Given the description of an element on the screen output the (x, y) to click on. 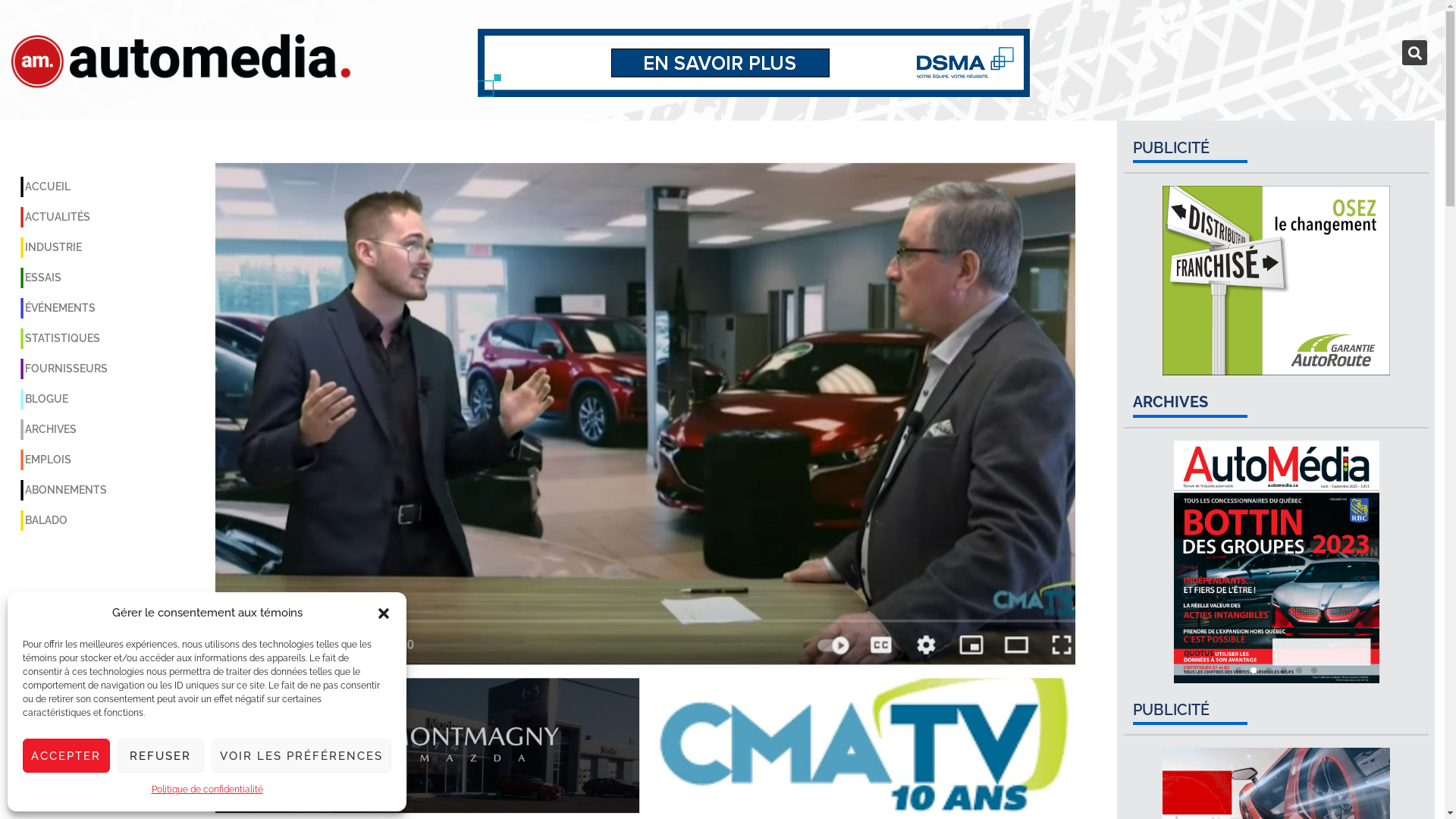
ACCEPTER Element type: text (65, 755)
REFUSER Element type: text (159, 755)
|
ARCHIVES Element type: text (63, 429)
|
STATISTIQUES Element type: text (63, 338)
ARCHIVES Element type: text (1170, 401)
|
FOURNISSEURS Element type: text (63, 368)
|
EMPLOIS Element type: text (63, 459)
|
BLOGUE Element type: text (63, 398)
|
INDUSTRIE Element type: text (63, 247)
|
BALADO Element type: text (63, 520)
|
ESSAIS Element type: text (63, 277)
|
ACCUEIL Element type: text (63, 186)
|
ABONNEMENTS Element type: text (63, 489)
